Given the description of an element on the screen output the (x, y) to click on. 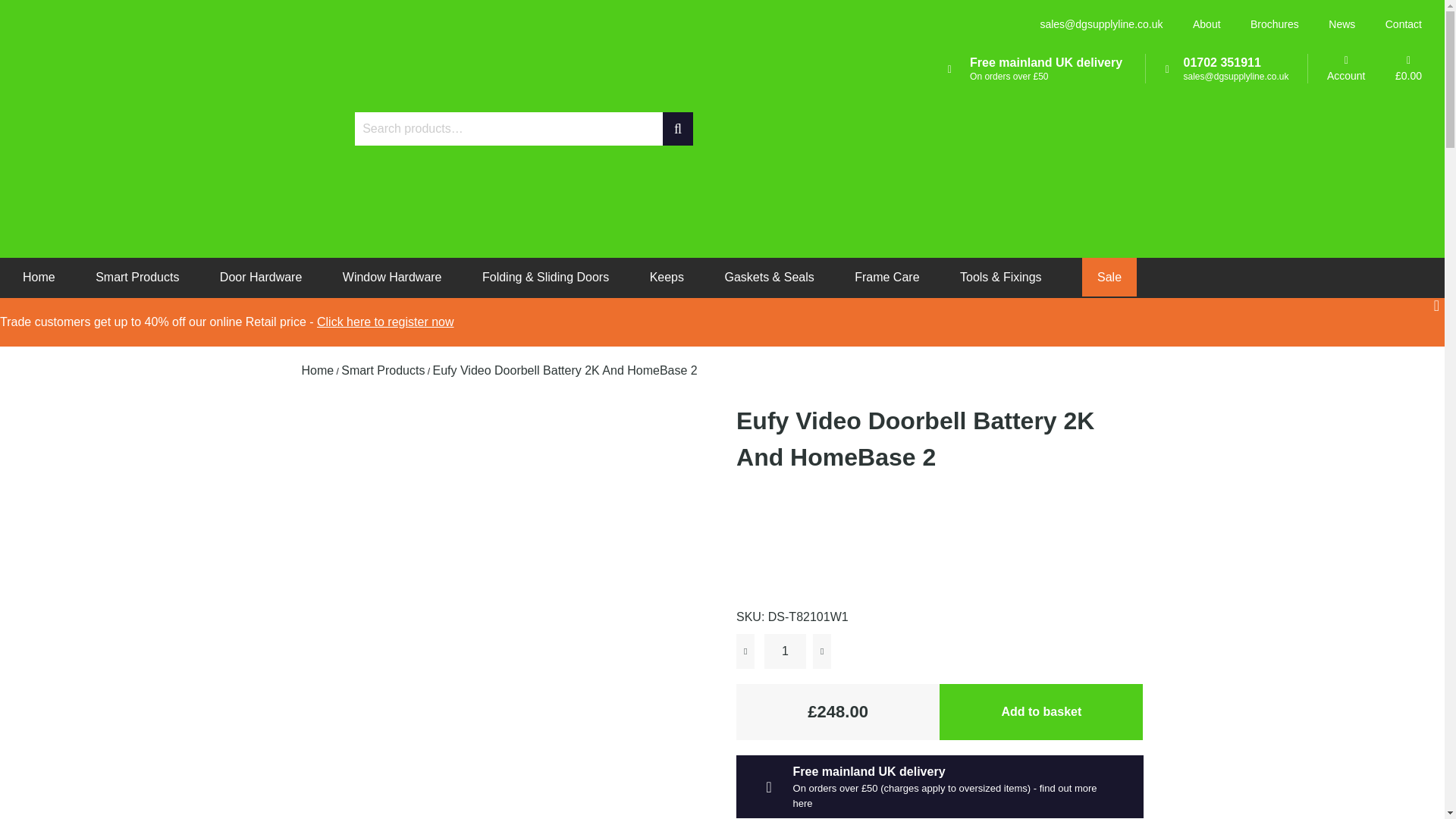
Contact (1404, 24)
News (1341, 24)
Window Hardware (392, 277)
01702 351911 (1221, 62)
1 (785, 651)
Smart Products (137, 277)
Account (1345, 69)
Brochures (1274, 24)
Search (677, 128)
About (1206, 24)
